Given the description of an element on the screen output the (x, y) to click on. 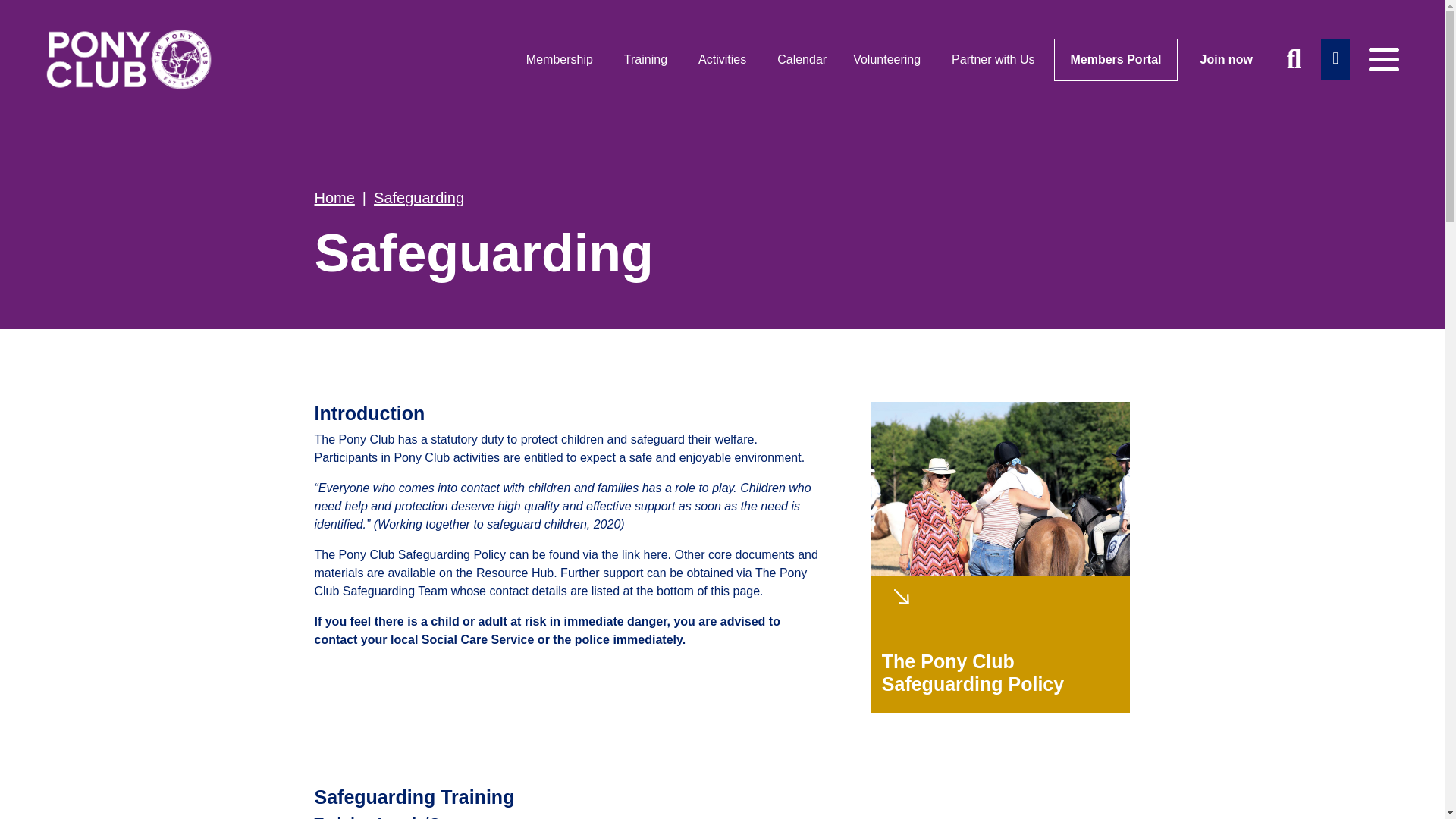
Training (647, 60)
Membership (561, 60)
Activities (724, 60)
